Given the description of an element on the screen output the (x, y) to click on. 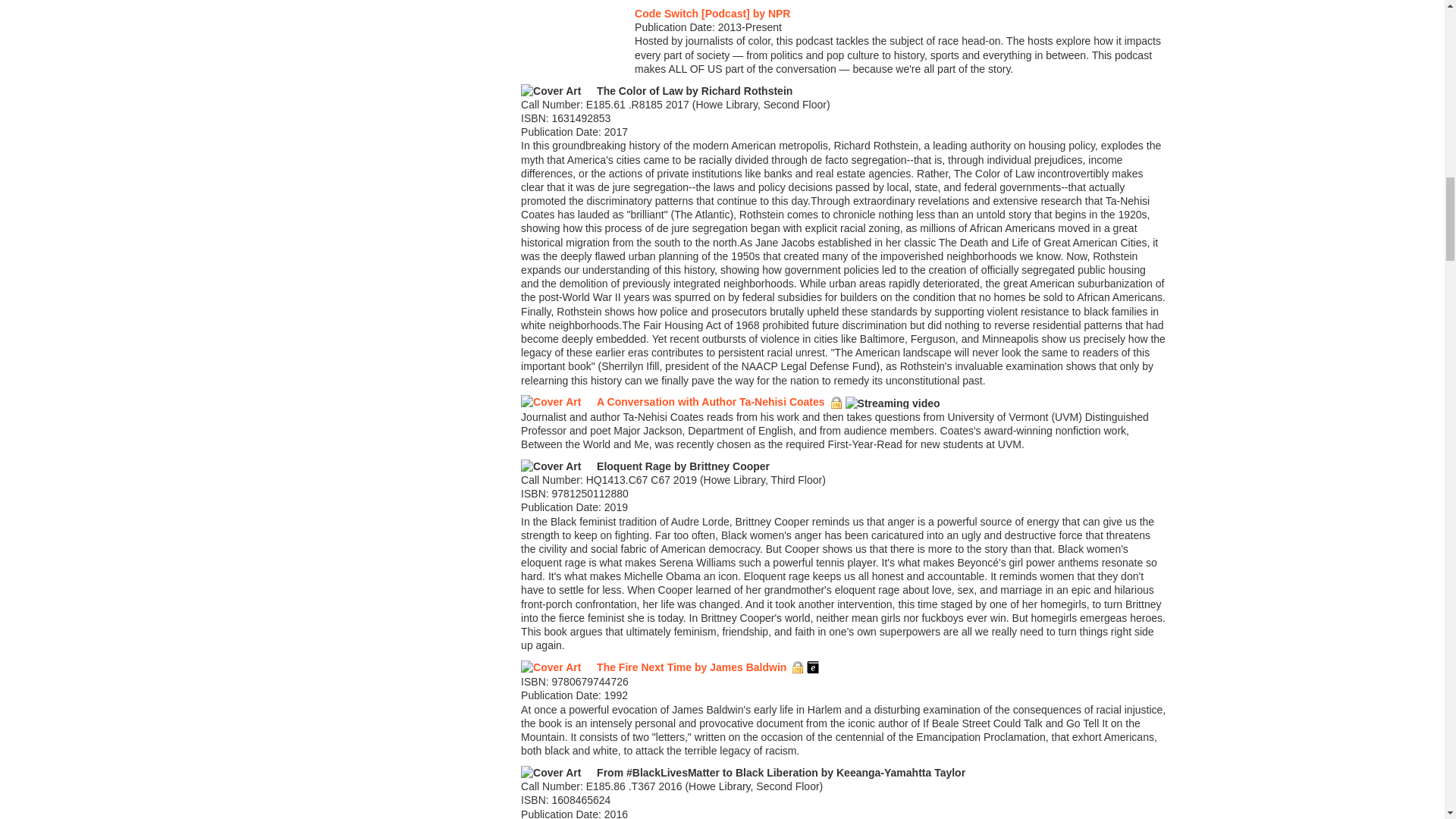
A Conversation with Author Ta-Nehisi Coates (710, 401)
The Fire Next Time by James Baldwin (691, 666)
